Given the description of an element on the screen output the (x, y) to click on. 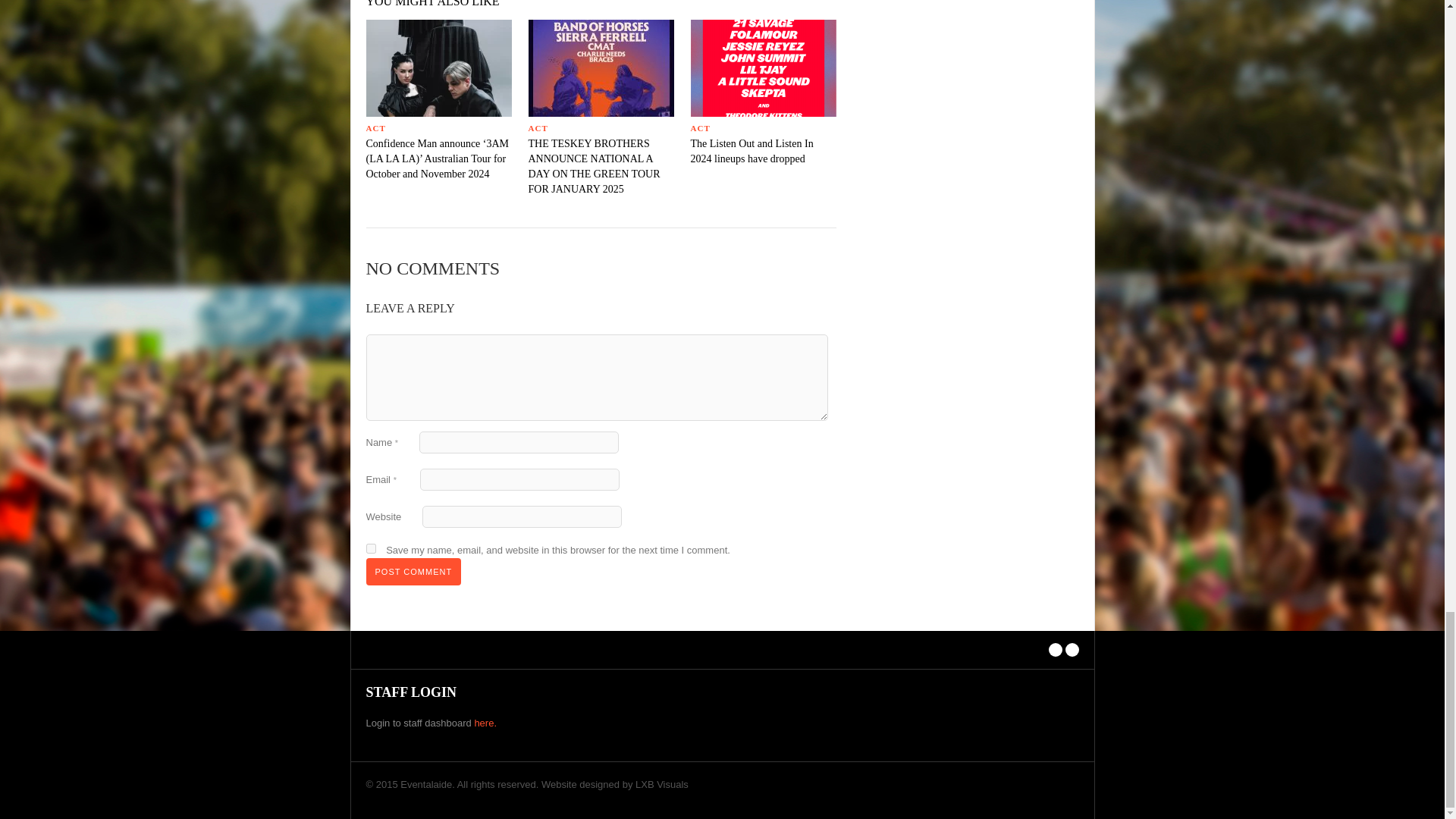
Post comment (413, 571)
yes (370, 548)
